Given the description of an element on the screen output the (x, y) to click on. 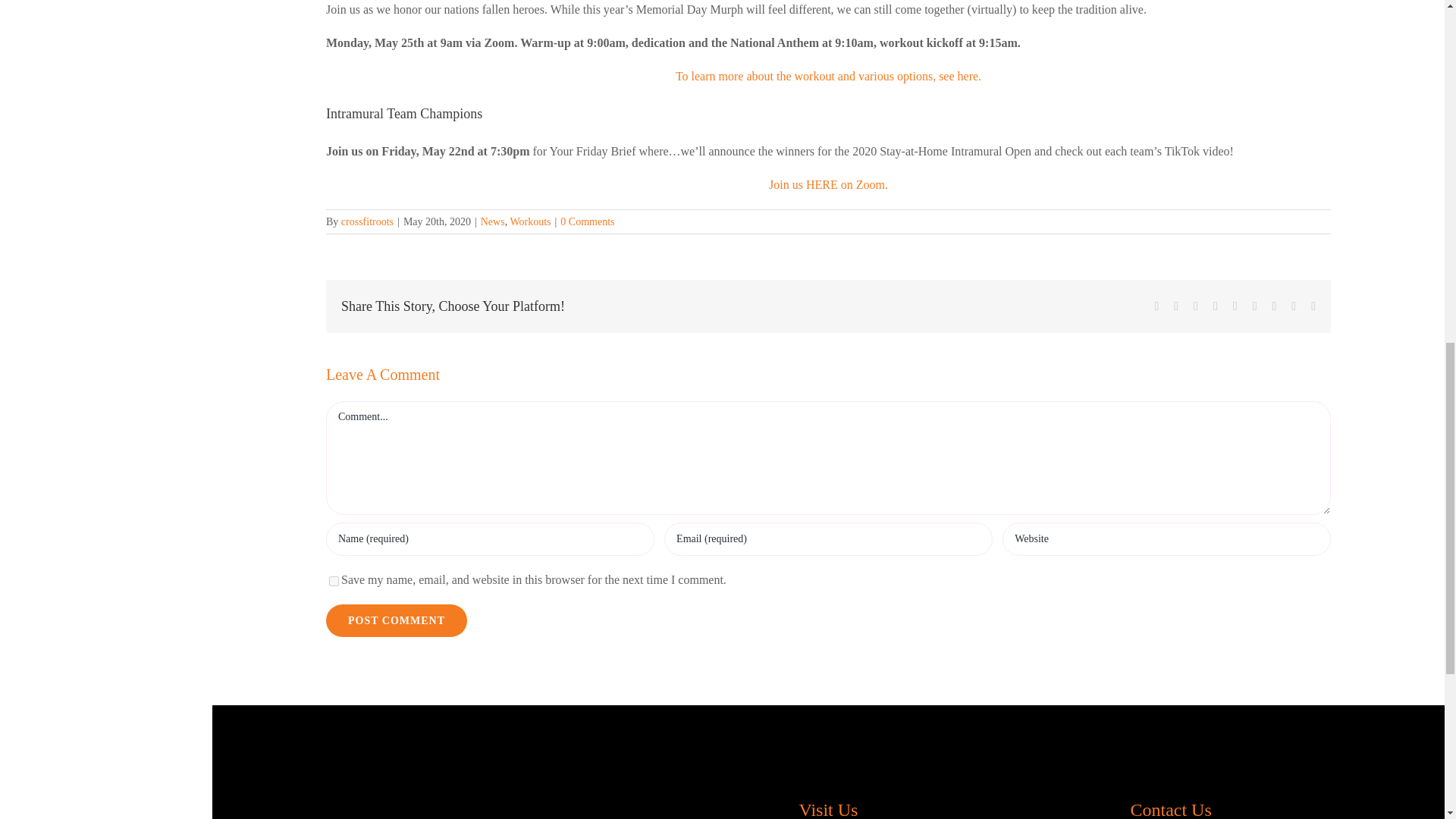
Vk (1293, 306)
Pinterest (1273, 306)
Facebook (1156, 306)
Workouts (529, 221)
Vk (1293, 306)
WhatsApp (1235, 306)
Reddit (1195, 306)
yes (334, 581)
Join us HERE on Zoom. (828, 184)
Reddit (1195, 306)
Tumblr (1254, 306)
News (492, 221)
Pinterest (1273, 306)
crossfitroots (366, 221)
Posts by crossfitroots (366, 221)
